Given the description of an element on the screen output the (x, y) to click on. 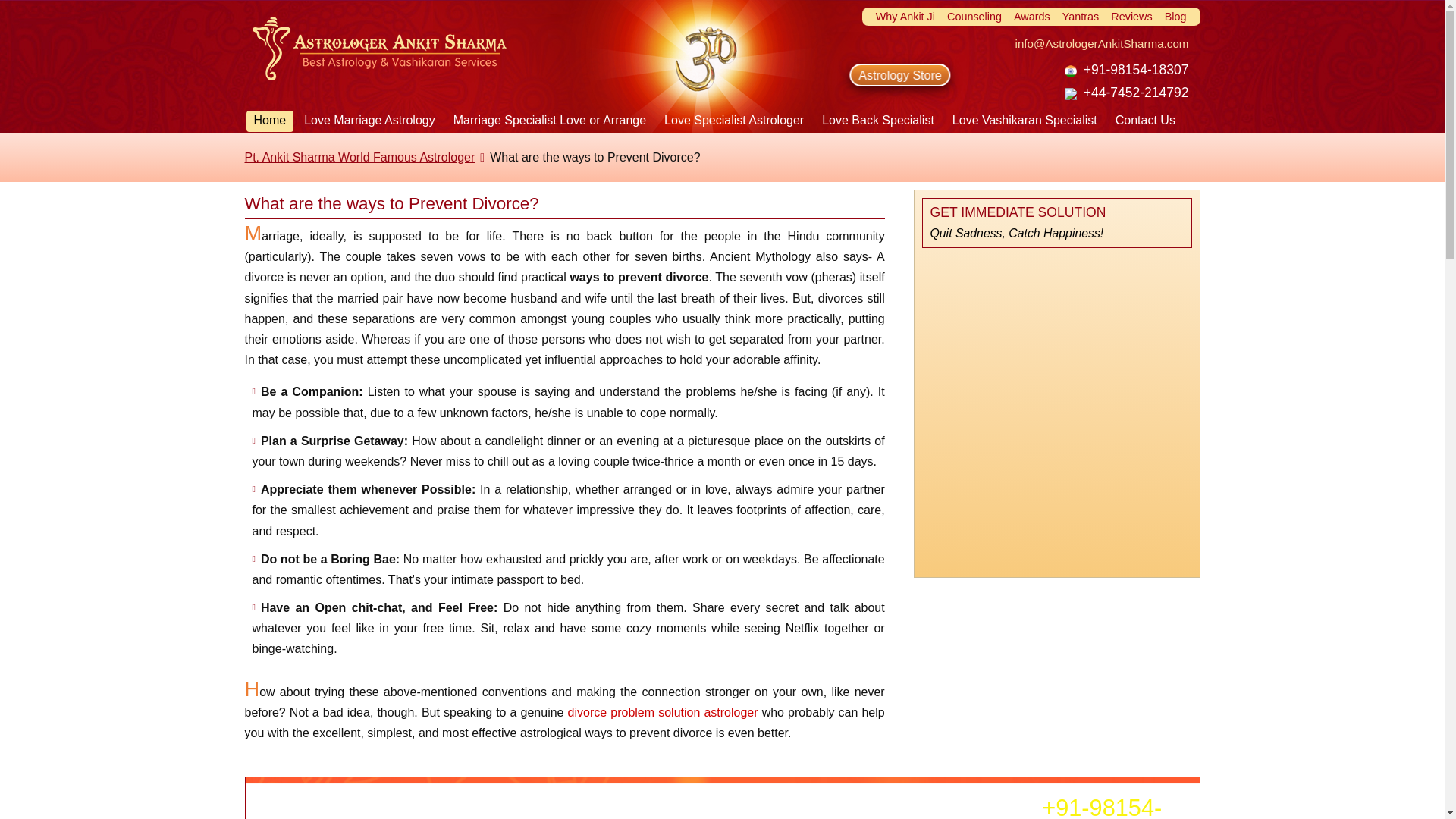
Pt. Ankit Sharma World Famous Astrologer (359, 156)
Love Back Specialist (877, 120)
Why Ankit Ji (905, 16)
Reviews (1130, 16)
Contact Us (1145, 120)
Yantras (1080, 16)
Marriage Specialist Love or Arrange (549, 120)
Blog (1175, 16)
Astrology Store (888, 74)
divorce problem solution astrologer (662, 712)
